Given the description of an element on the screen output the (x, y) to click on. 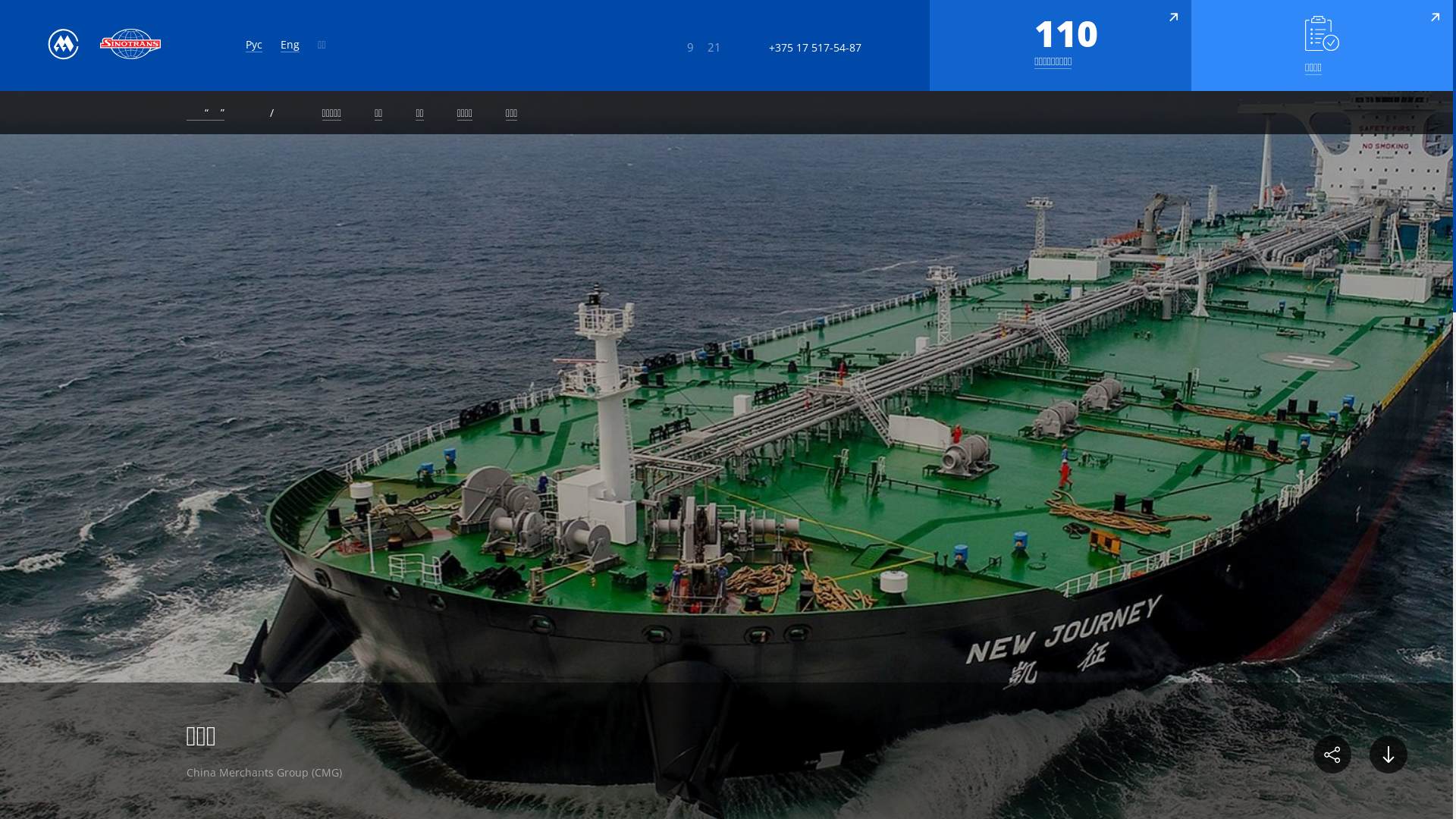
Eng Element type: text (289, 44)
+375 17 517-54-87 Element type: text (796, 47)
Sinotrans Element type: hover (130, 43)
